Given the description of an element on the screen output the (x, y) to click on. 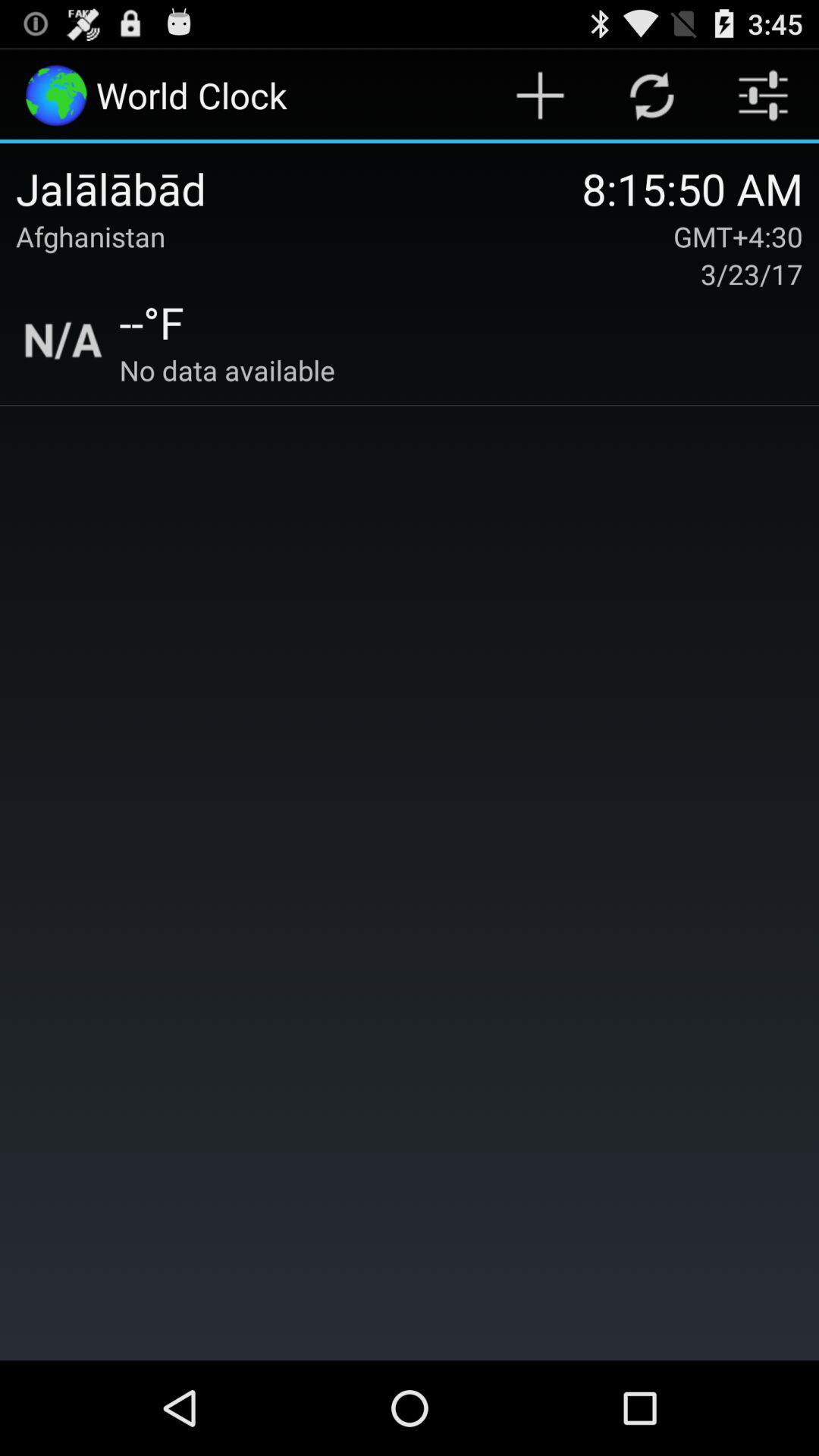
choose item below 8 15 50 icon (738, 236)
